Given the description of an element on the screen output the (x, y) to click on. 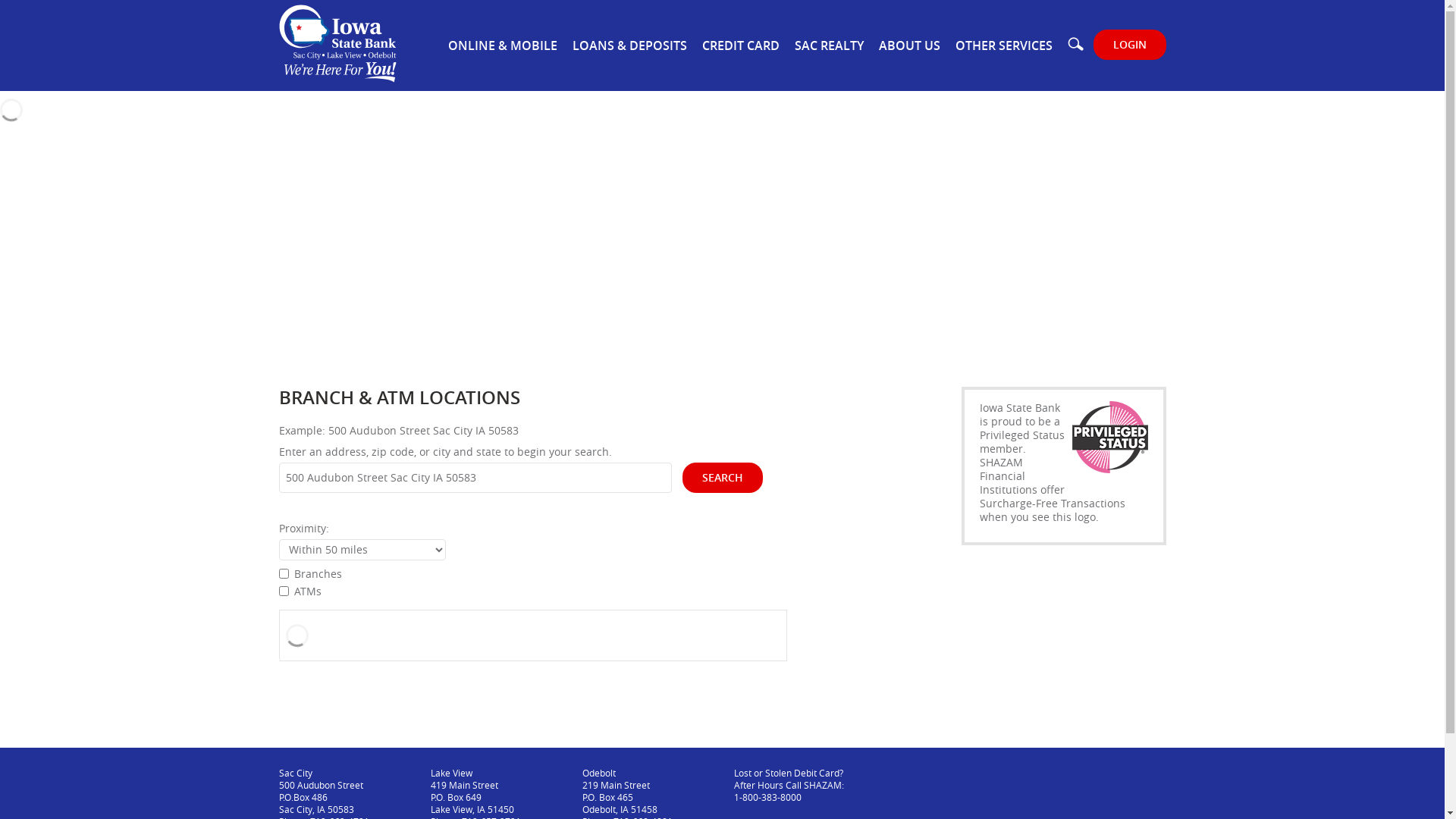
Search location Element type: hover (475, 477)
SEARCH Element type: text (722, 477)
LOANS & DEPOSITS Element type: text (628, 45)
IOWA STATE BANK Element type: text (337, 43)
LOGIN Element type: text (1129, 44)
SAC REALTY Element type: text (829, 45)
CREDIT CARD Element type: text (740, 45)
